Given the description of an element on the screen output the (x, y) to click on. 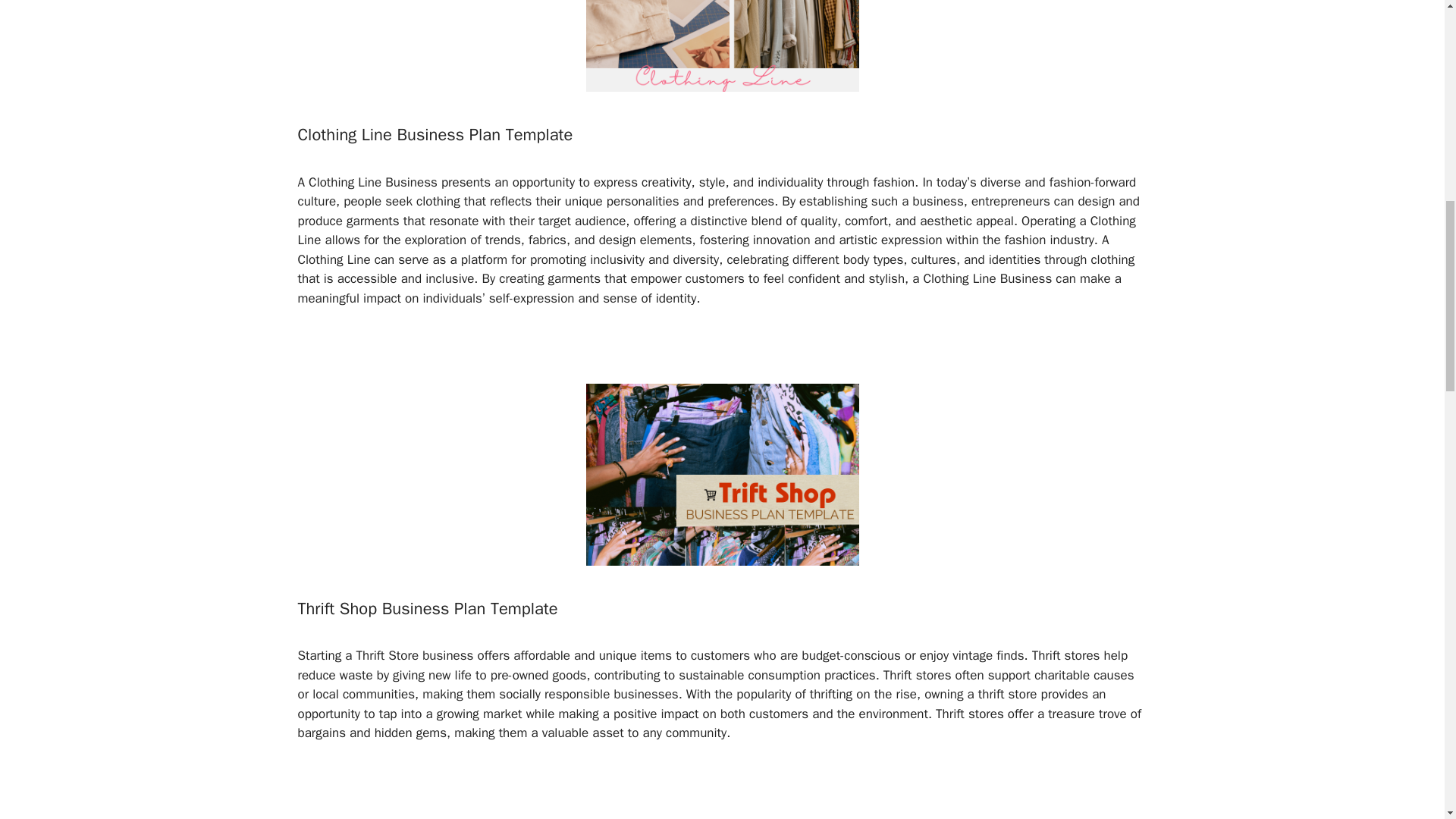
Thrift Shop Business Plan Template (427, 608)
Scroll back to top (1406, 720)
Clothing Line Business Plan Template (434, 134)
